Given the description of an element on the screen output the (x, y) to click on. 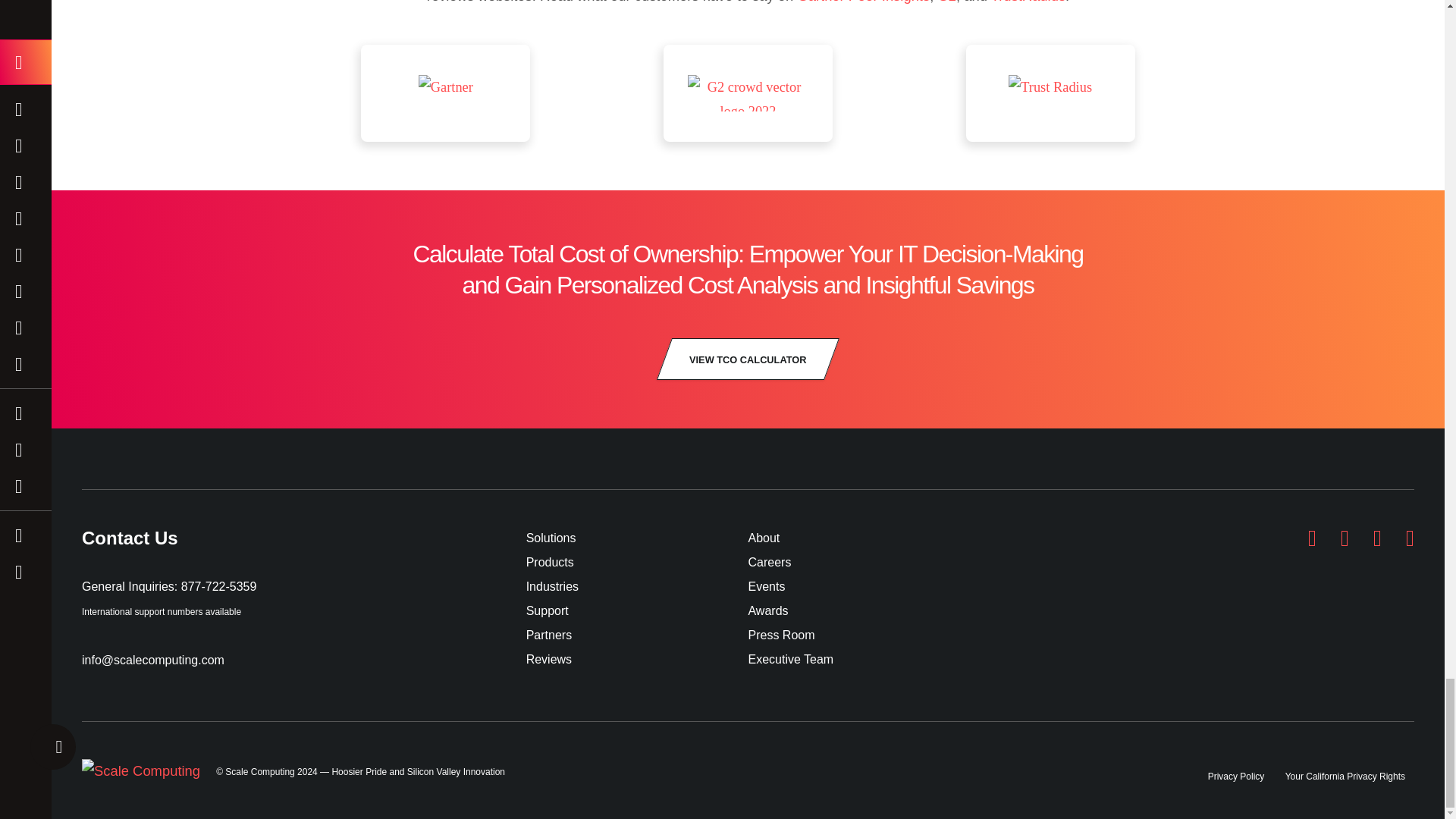
VIEW TCO CALCULATOR (748, 359)
Gartner (445, 93)
Scale Computing (140, 770)
Contact Us (303, 548)
G2 (946, 2)
TrustRadius (1028, 2)
TrustRadius (1050, 93)
G2 (747, 93)
Gartner Peer Insights (863, 2)
